Given the description of an element on the screen output the (x, y) to click on. 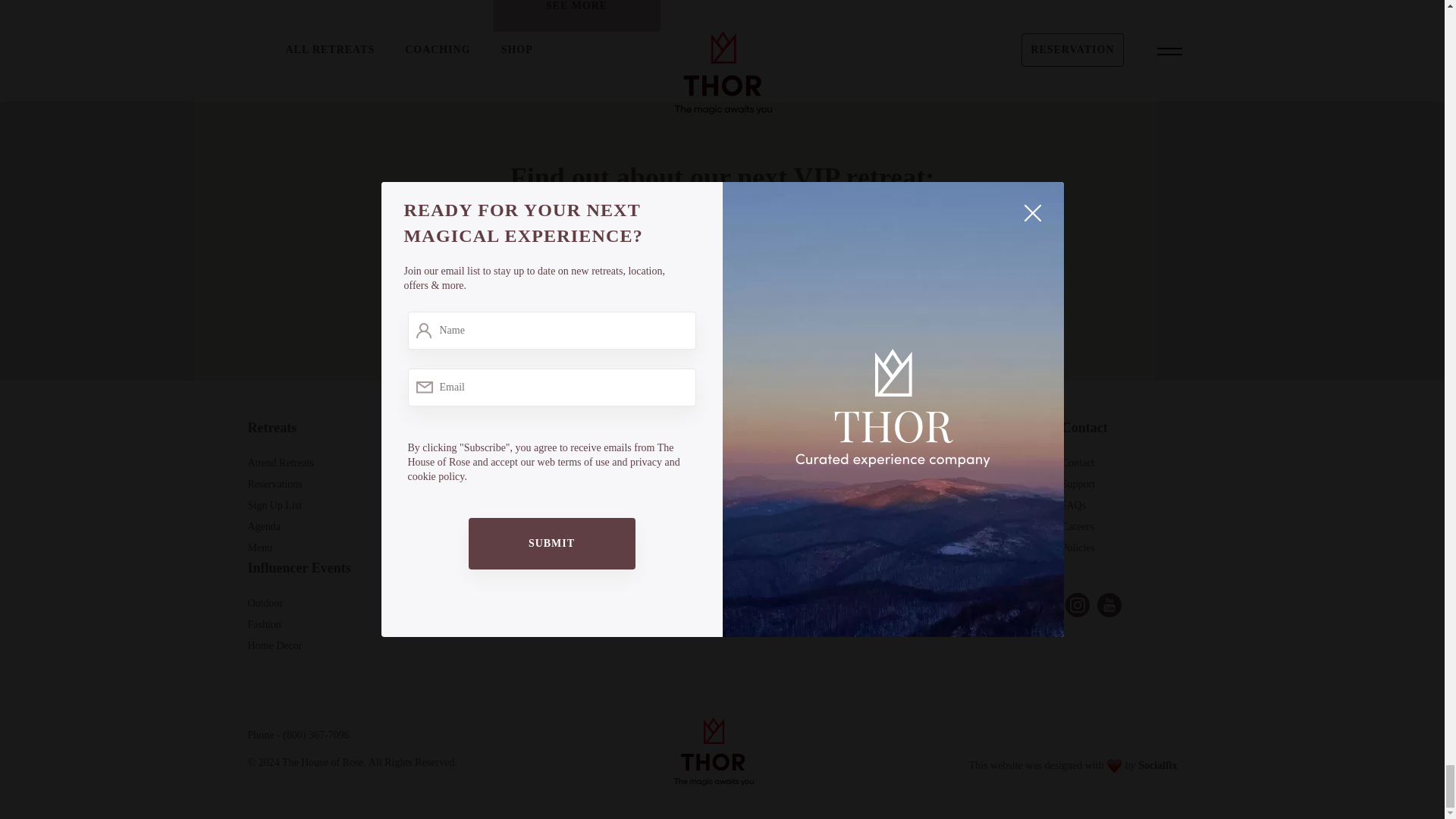
Sign up (826, 233)
